Given the description of an element on the screen output the (x, y) to click on. 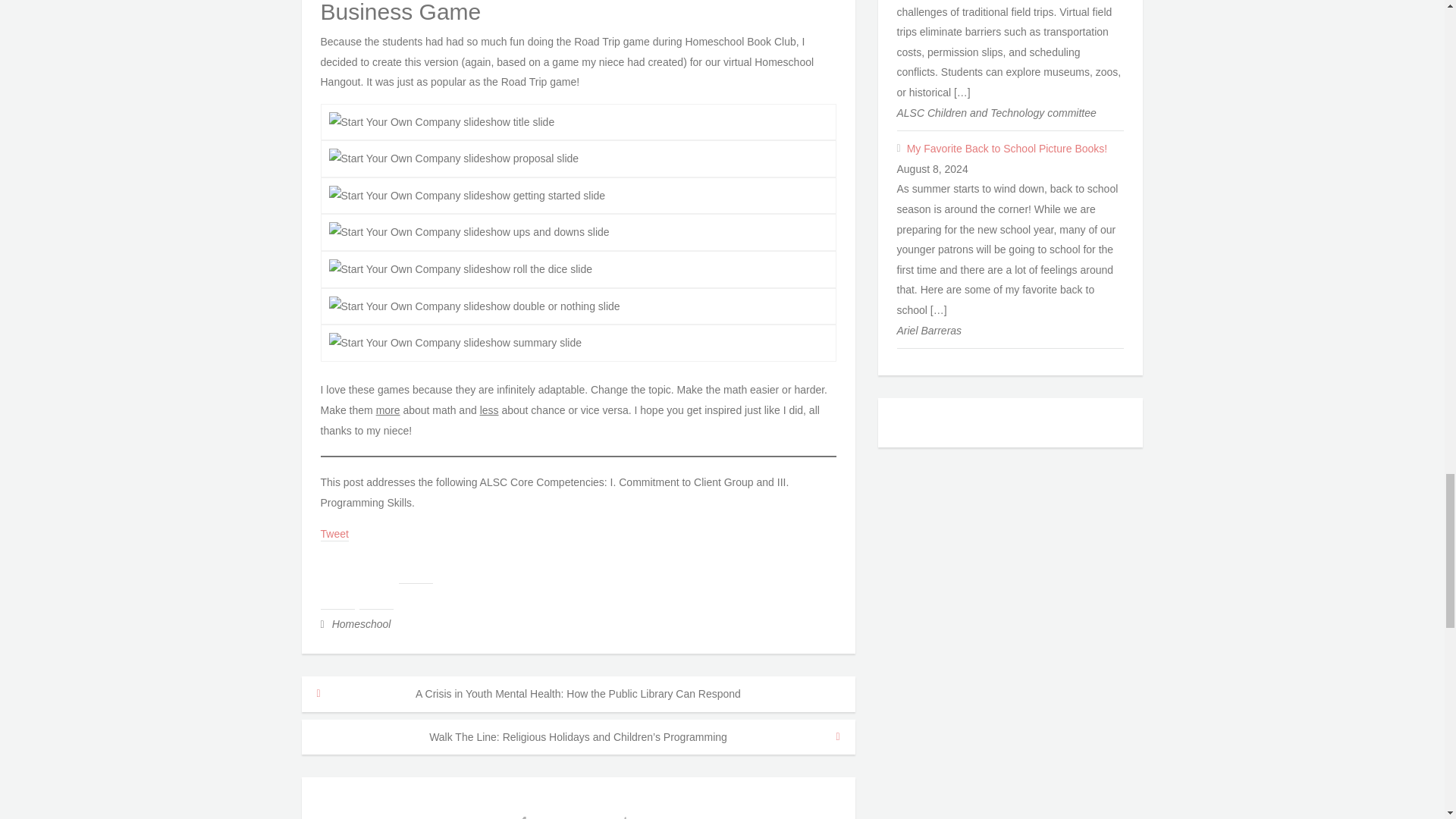
Share on Twitter (376, 592)
Tweet (333, 534)
Homeschool (361, 623)
Share on Facebook (336, 592)
Share on Linkedin (415, 566)
